Given the description of an element on the screen output the (x, y) to click on. 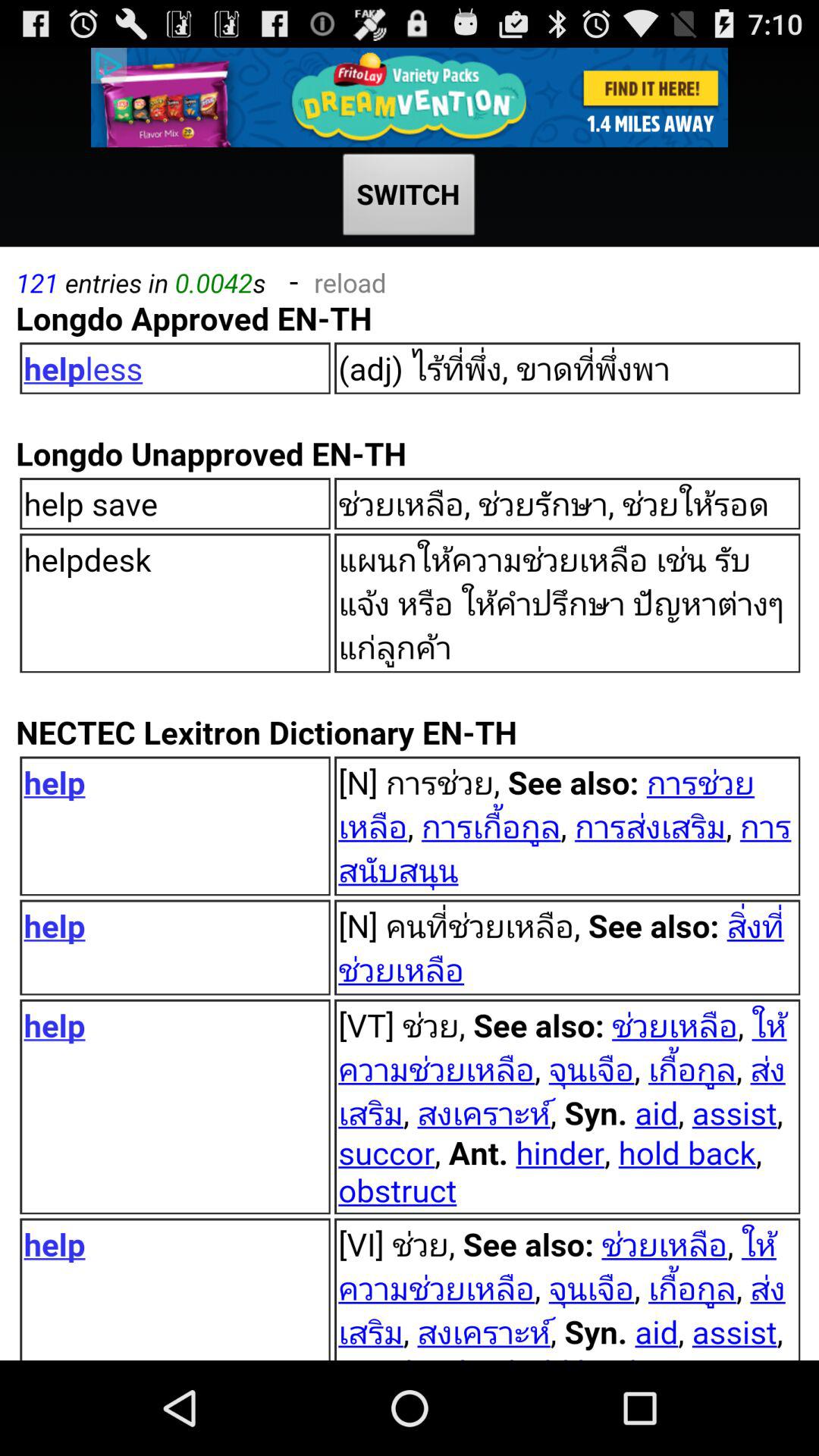
advertisement link image (409, 97)
